Given the description of an element on the screen output the (x, y) to click on. 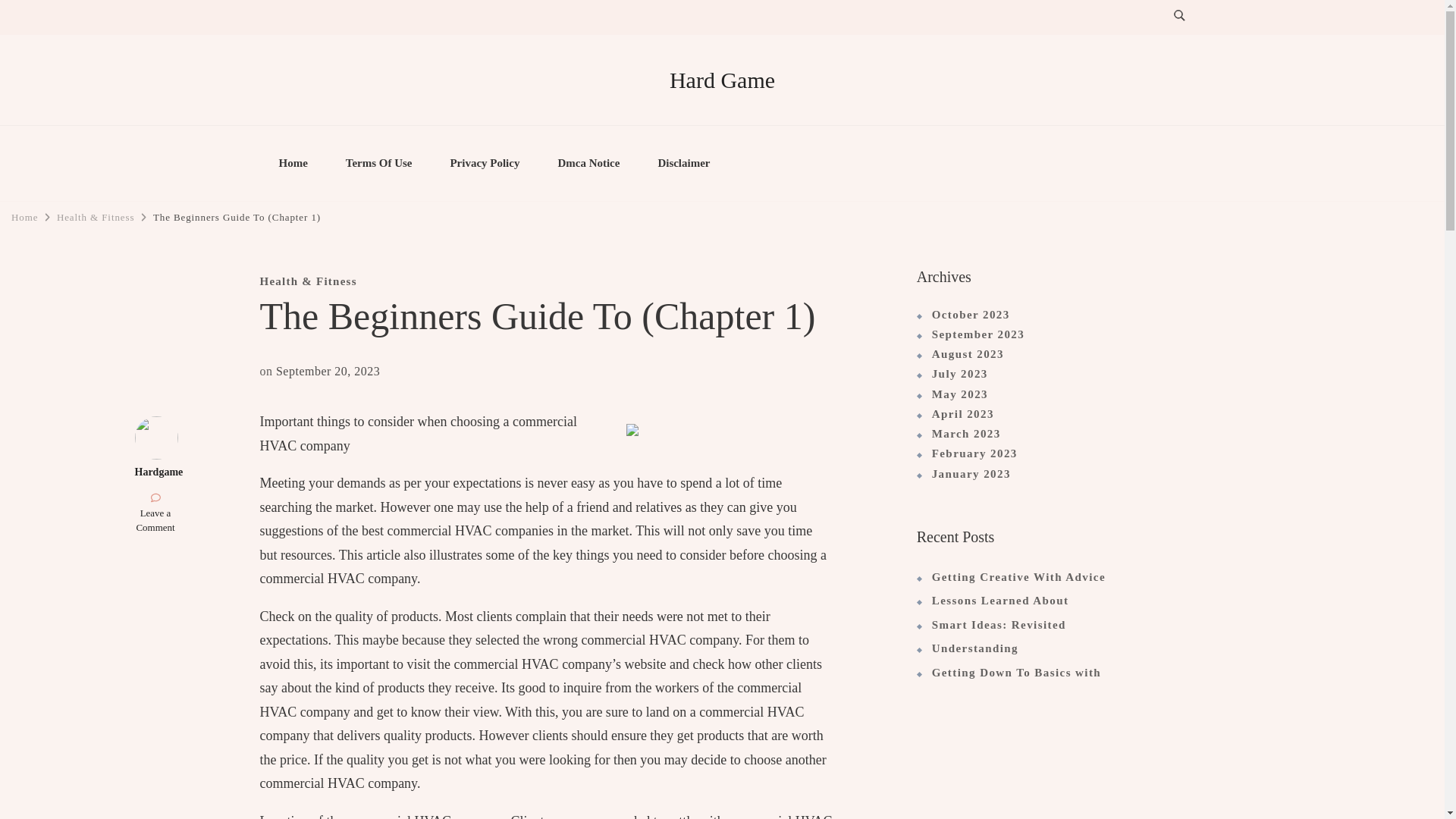
Terms Of Use (378, 163)
Dmca Notice (588, 163)
Home (24, 216)
Disclaimer (684, 163)
Home (292, 163)
September 20, 2023 (328, 370)
Privacy Policy (484, 163)
Hard Game (721, 80)
Hardgame (159, 472)
